Given the description of an element on the screen output the (x, y) to click on. 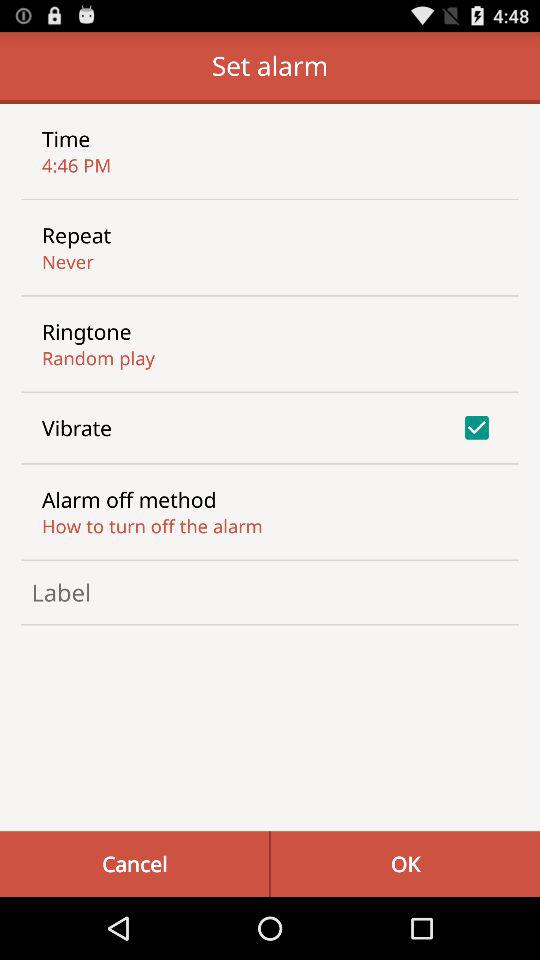
choose the ringtone icon (86, 331)
